Given the description of an element on the screen output the (x, y) to click on. 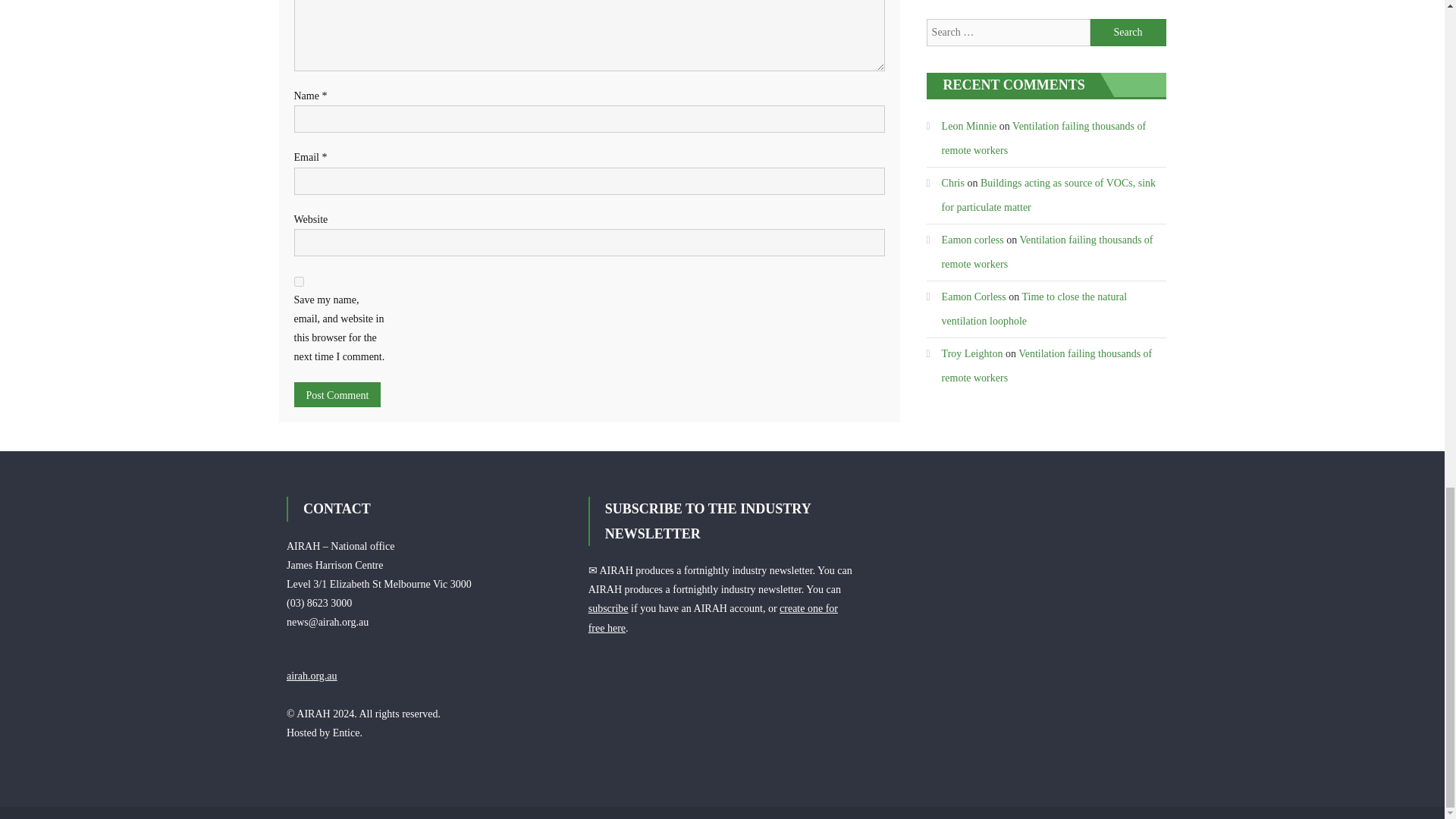
Search (1128, 31)
Search (1128, 31)
yes (299, 281)
Post Comment (337, 394)
